Given the description of an element on the screen output the (x, y) to click on. 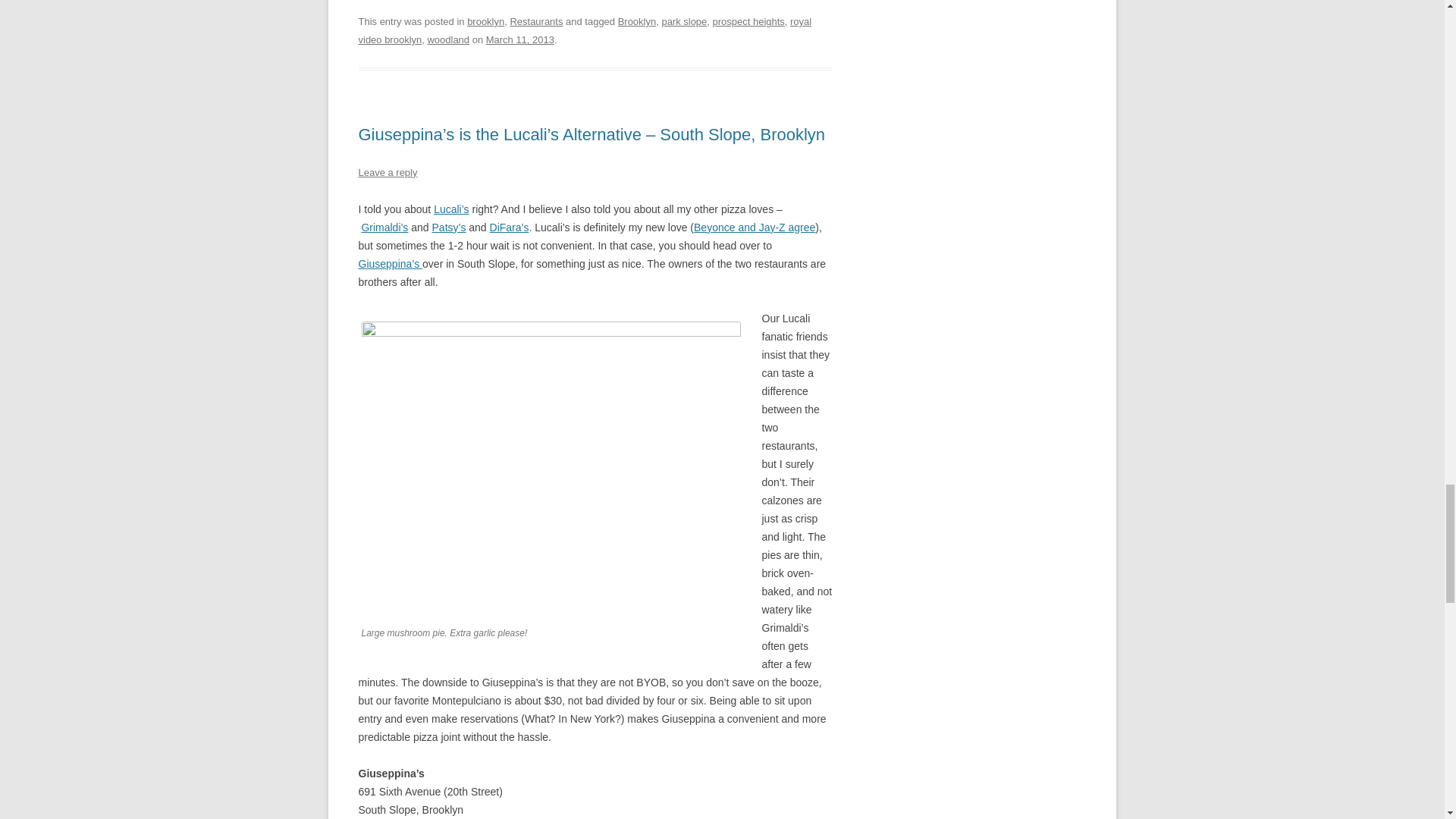
2012-11-14-18.22.21 (550, 463)
Lucali Pizza, Brooklyn (450, 209)
9:18 am (520, 39)
